Given the description of an element on the screen output the (x, y) to click on. 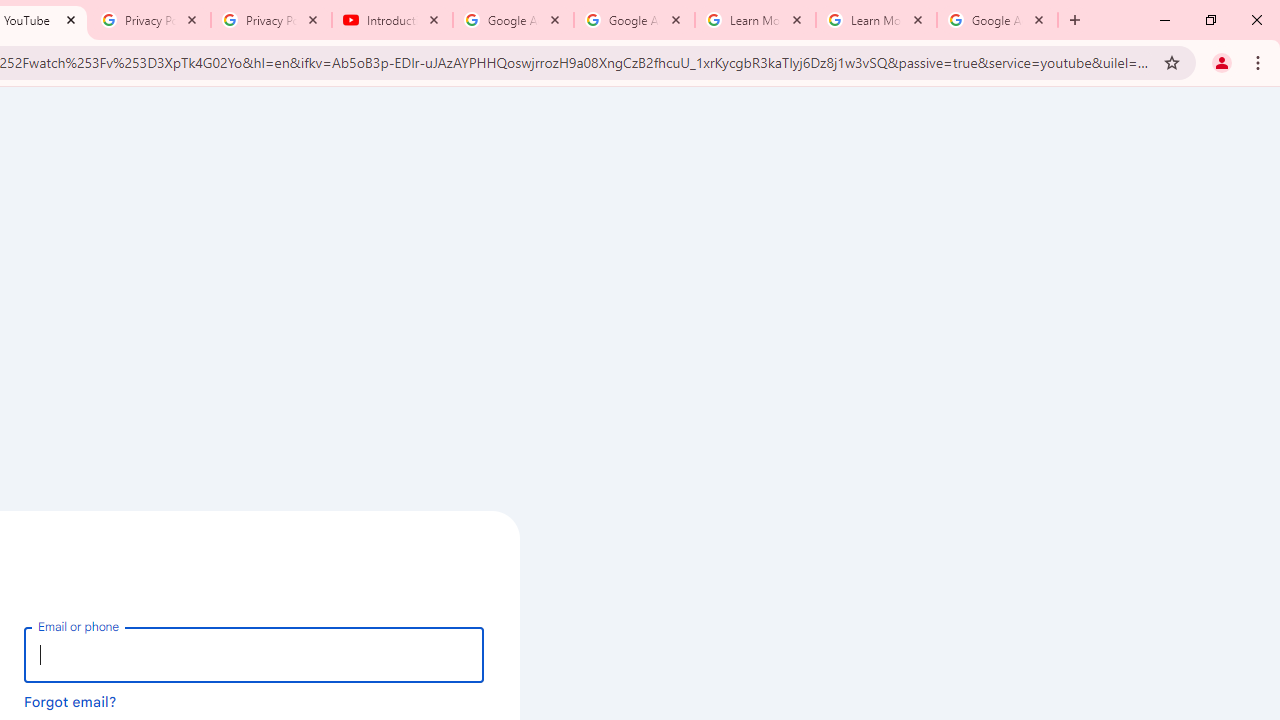
Forgot email? (70, 701)
Google Account Help (634, 20)
Introduction | Google Privacy Policy - YouTube (392, 20)
Email or phone (253, 654)
Google Account Help (513, 20)
